Given the description of an element on the screen output the (x, y) to click on. 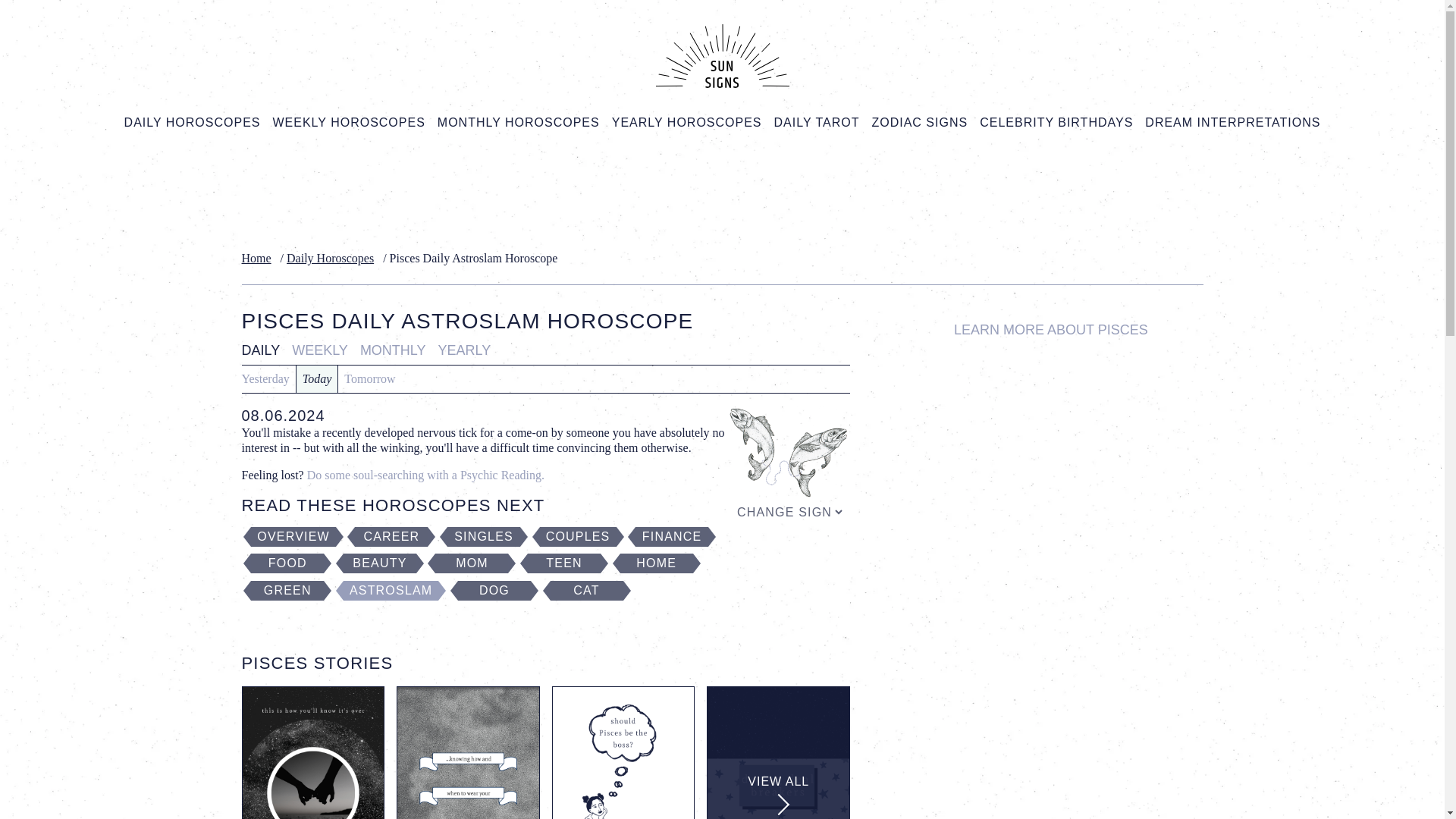
Today (317, 379)
BEAUTY (379, 563)
Do some soul-searching with a Psychic Reading. (425, 474)
COUPLES (577, 537)
CAREER (391, 537)
WEEKLY (319, 350)
Daily Horoscopes (333, 257)
YEARLY (464, 350)
MONTHLY HOROSCOPES (517, 123)
OVERVIEW (293, 537)
